Given the description of an element on the screen output the (x, y) to click on. 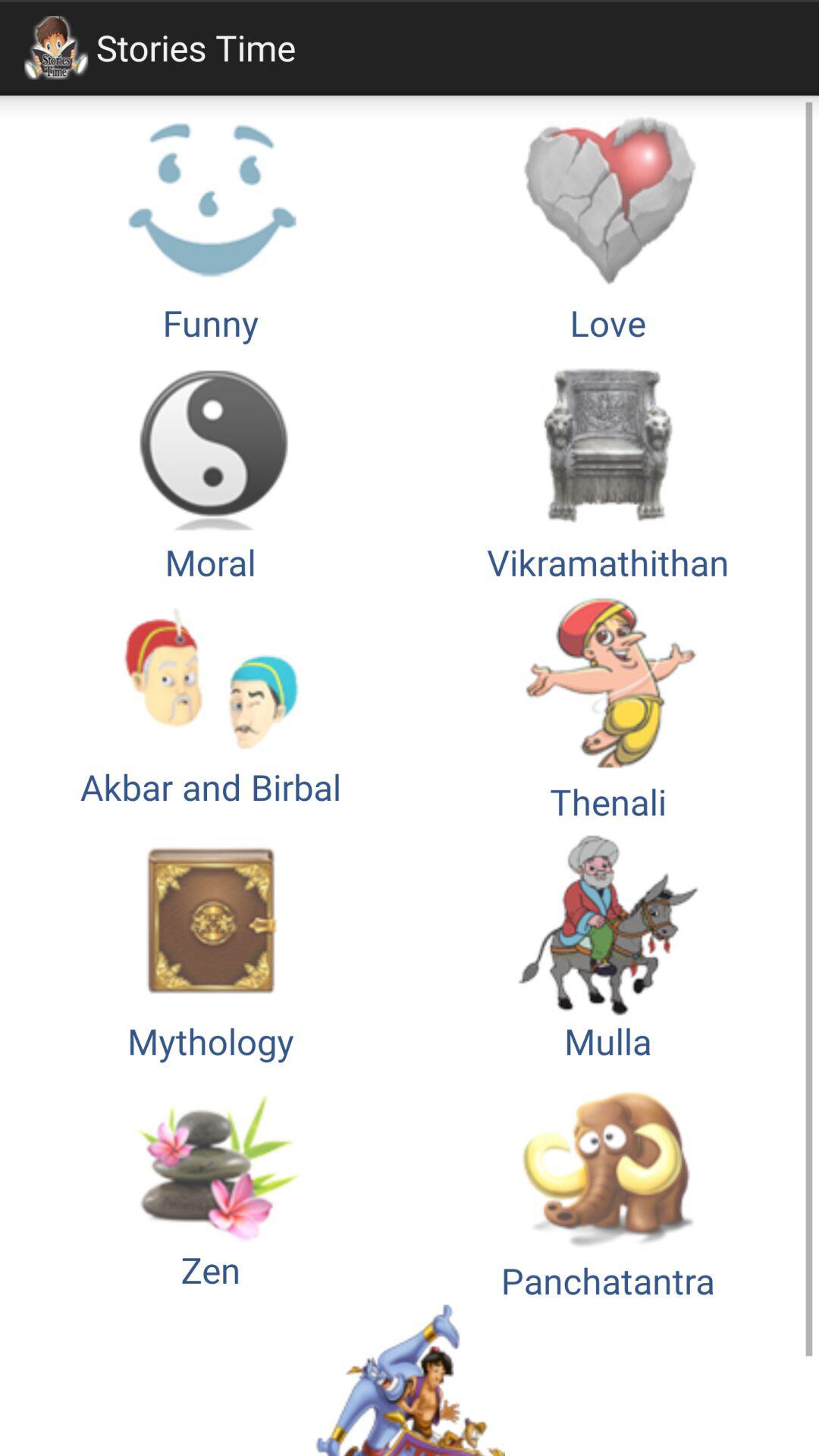
swipe to the panchatantra item (608, 1184)
